Given the description of an element on the screen output the (x, y) to click on. 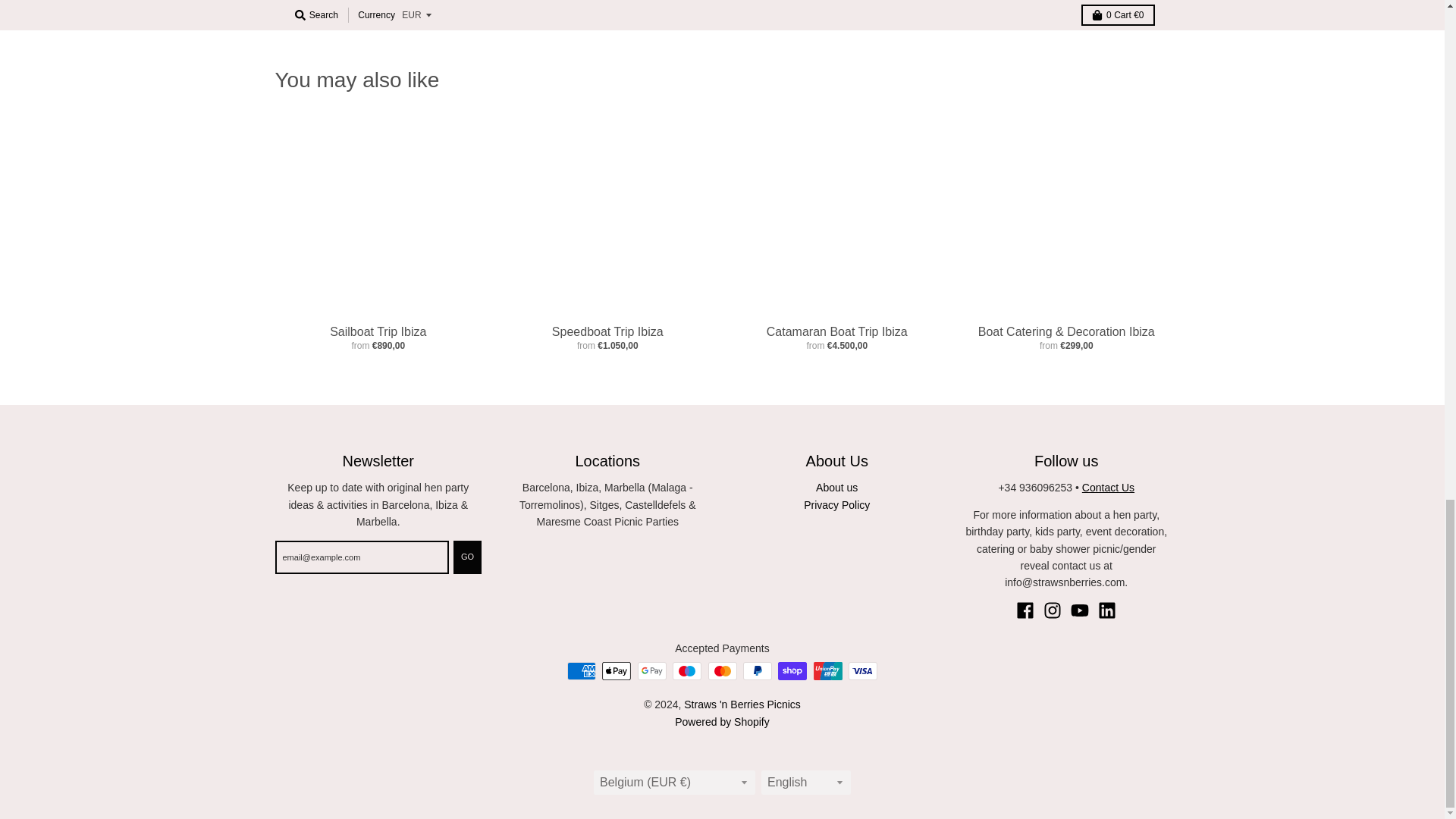
YouTube - Straws 'n Berries Picnics (1079, 610)
Instagram - Straws 'n Berries Picnics (1052, 610)
Facebook - Straws 'n Berries Picnics (1024, 610)
